Given the description of an element on the screen output the (x, y) to click on. 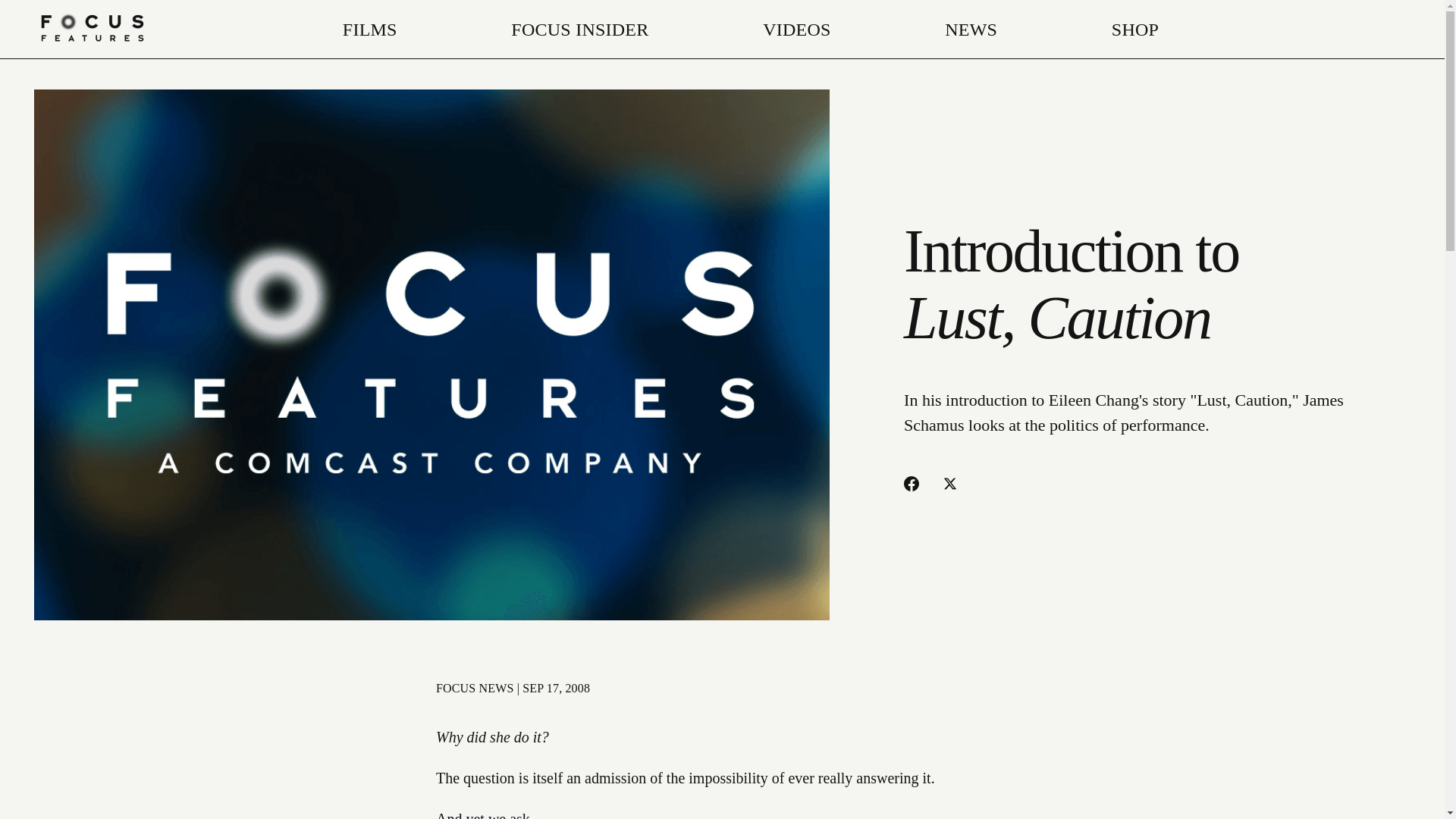
SHOP (1135, 28)
FOCUS INSIDER (579, 28)
NEWS (970, 28)
VIDEOS (795, 28)
FILMS (369, 28)
